Given the description of an element on the screen output the (x, y) to click on. 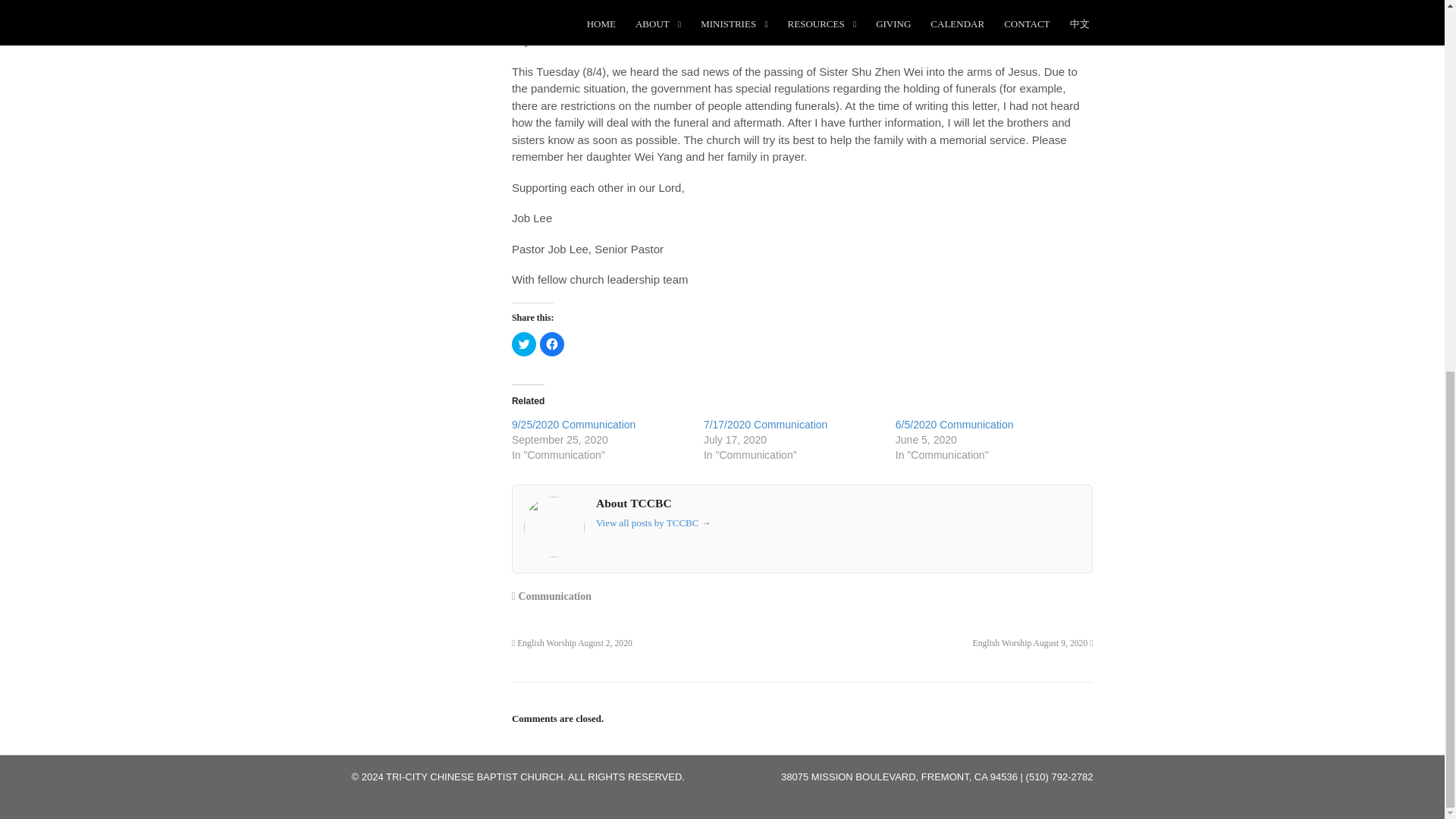
Click to share on Facebook (552, 344)
Click to share on Twitter (523, 344)
